Given the description of an element on the screen output the (x, y) to click on. 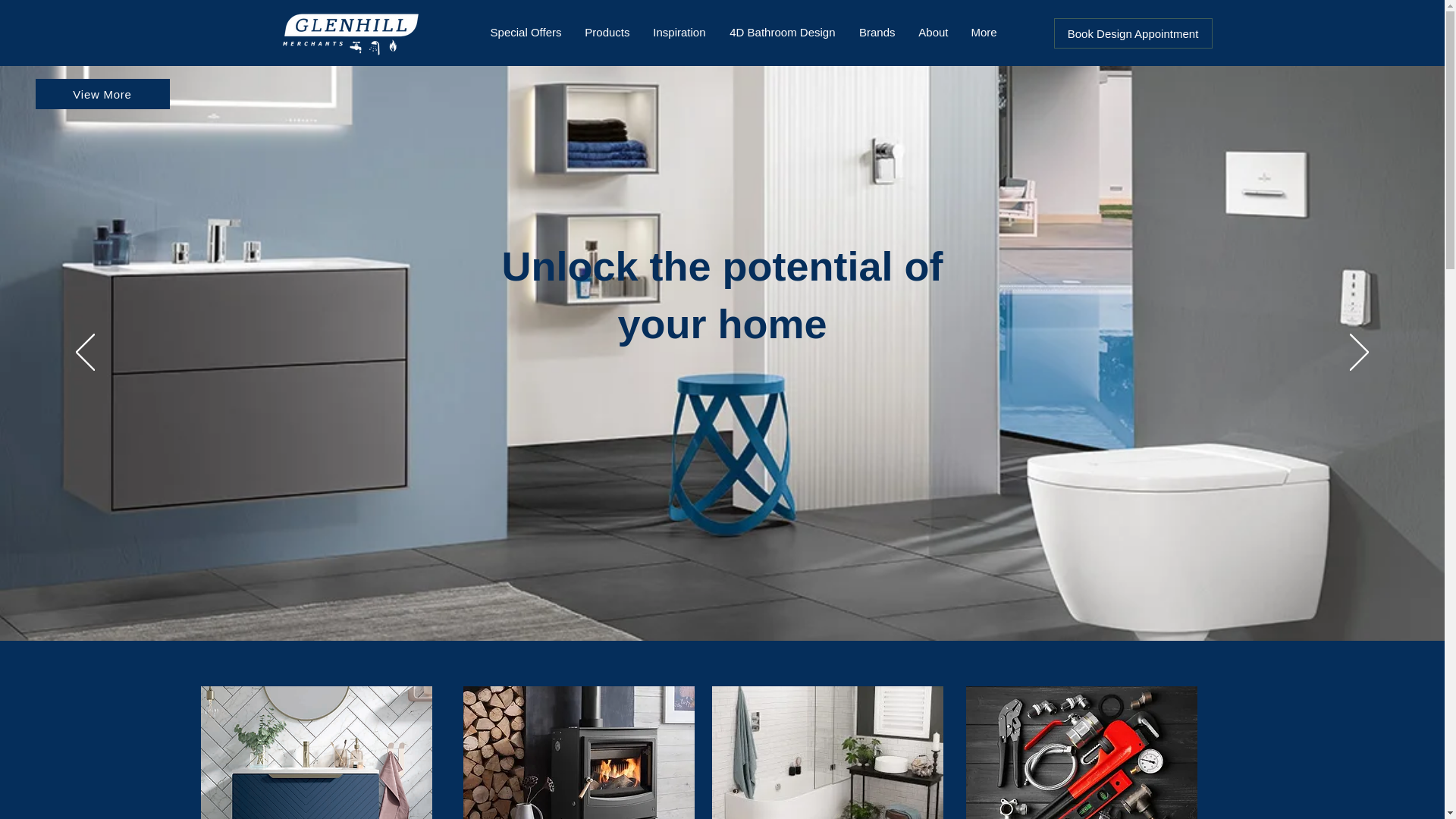
Brands (875, 32)
Special Offers (524, 32)
View More (101, 93)
About (933, 32)
4D Bathroom Design (782, 32)
Book Design Appointment (1133, 33)
